Given the description of an element on the screen output the (x, y) to click on. 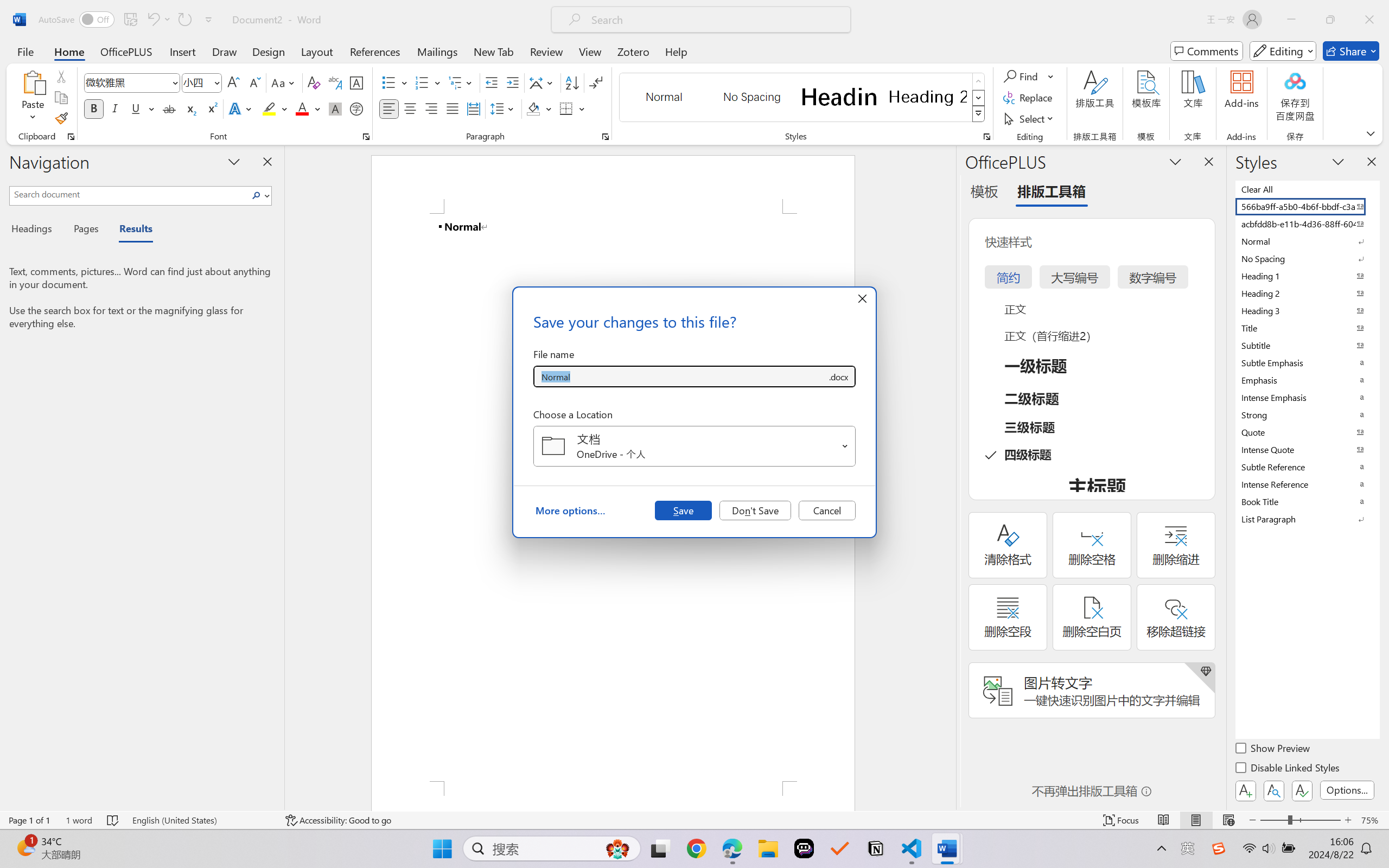
Minimize (1291, 19)
Spelling and Grammar Check No Errors (113, 819)
Format Painter (60, 118)
File Tab (24, 51)
Clear All (1306, 188)
New Tab (493, 51)
Mailings (437, 51)
Strong (1306, 414)
Grow Font (233, 82)
